Given the description of an element on the screen output the (x, y) to click on. 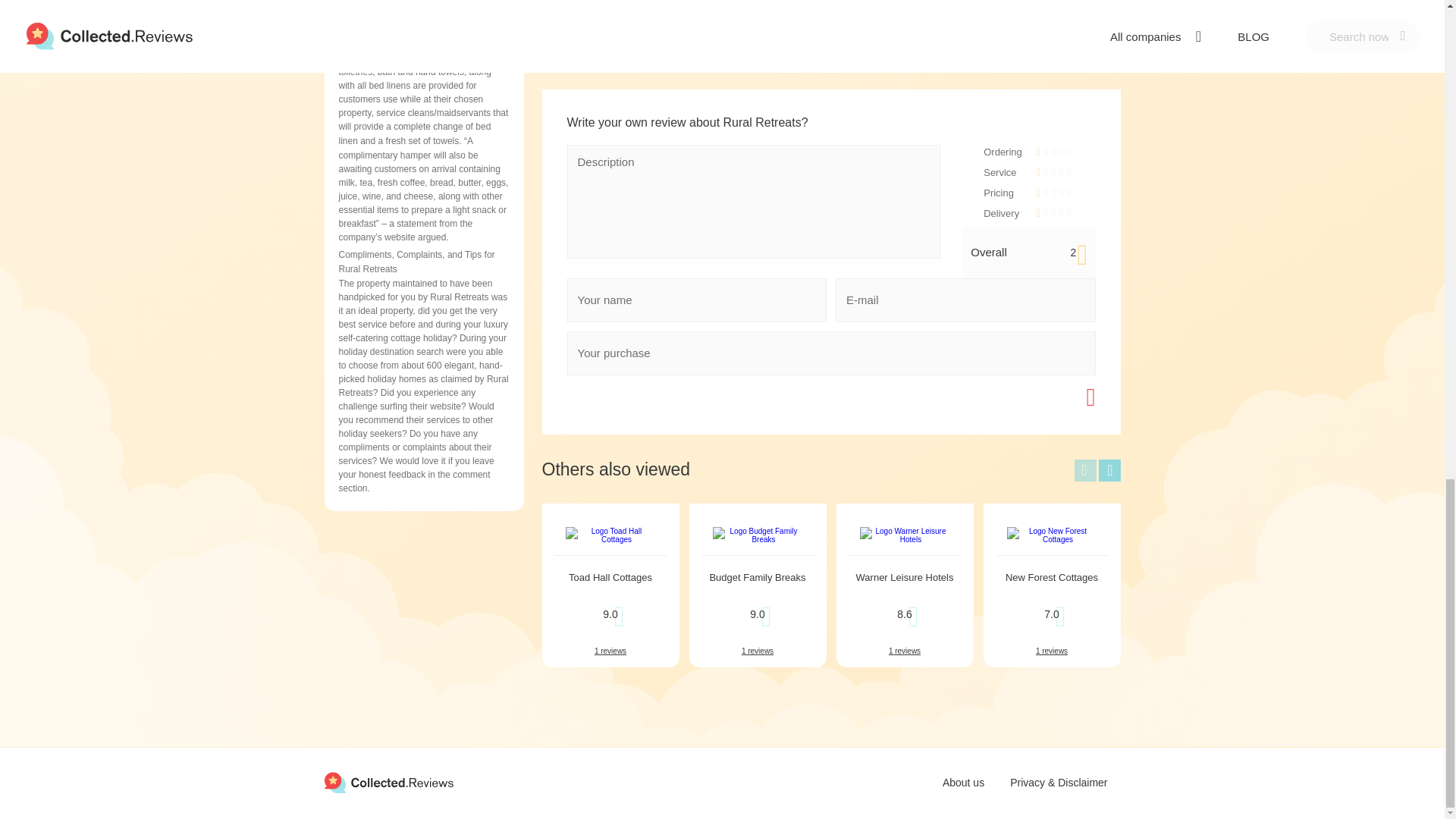
Group 15 (388, 782)
homepage (388, 783)
Respond on this (830, 6)
Send your review (1044, 396)
